Given the description of an element on the screen output the (x, y) to click on. 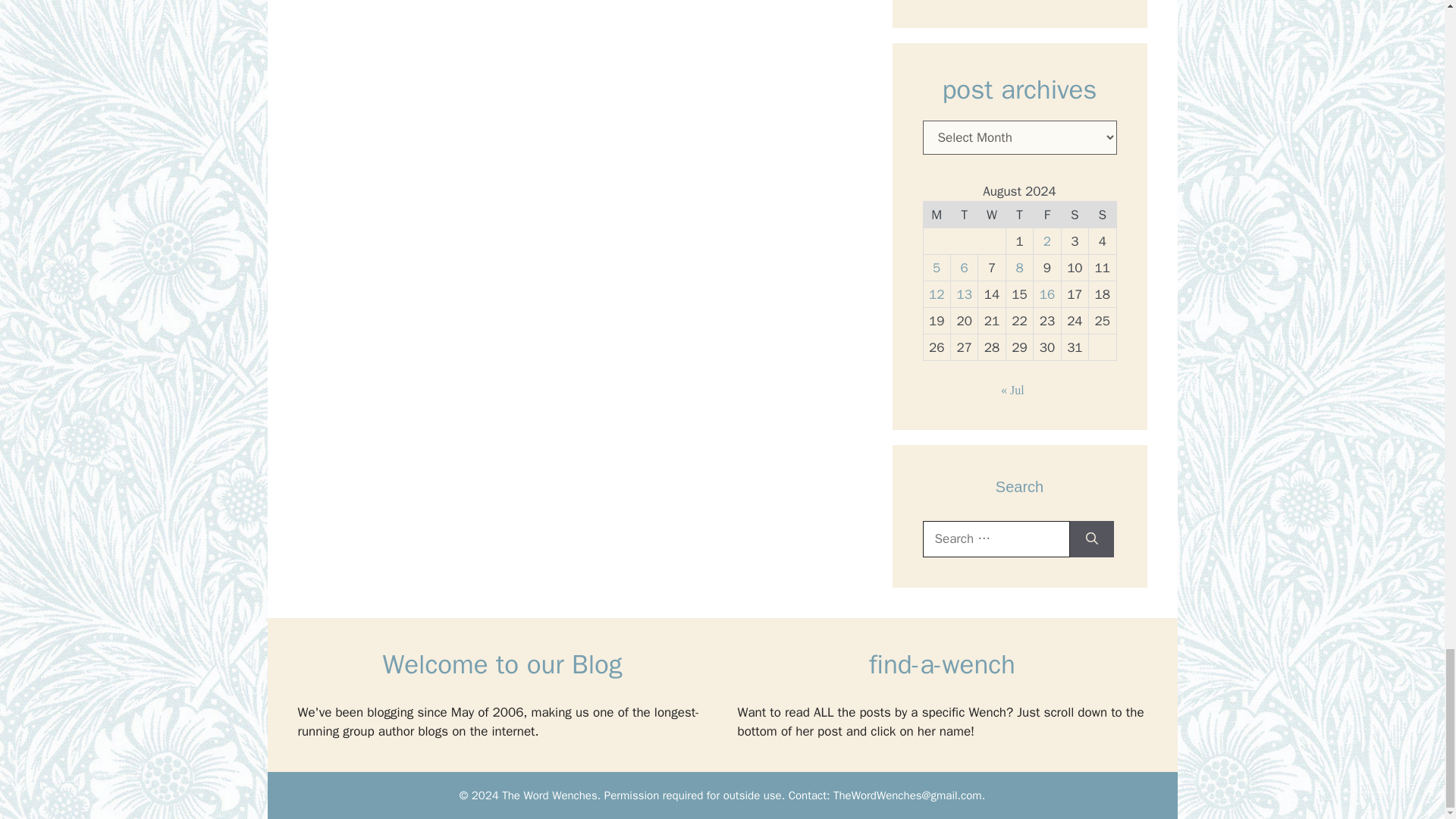
Search for: (994, 538)
Thursday (1019, 214)
Tuesday (963, 214)
Wednesday (992, 214)
Friday (1047, 214)
Saturday (1074, 214)
Monday (936, 214)
Sunday (1102, 214)
